Given the description of an element on the screen output the (x, y) to click on. 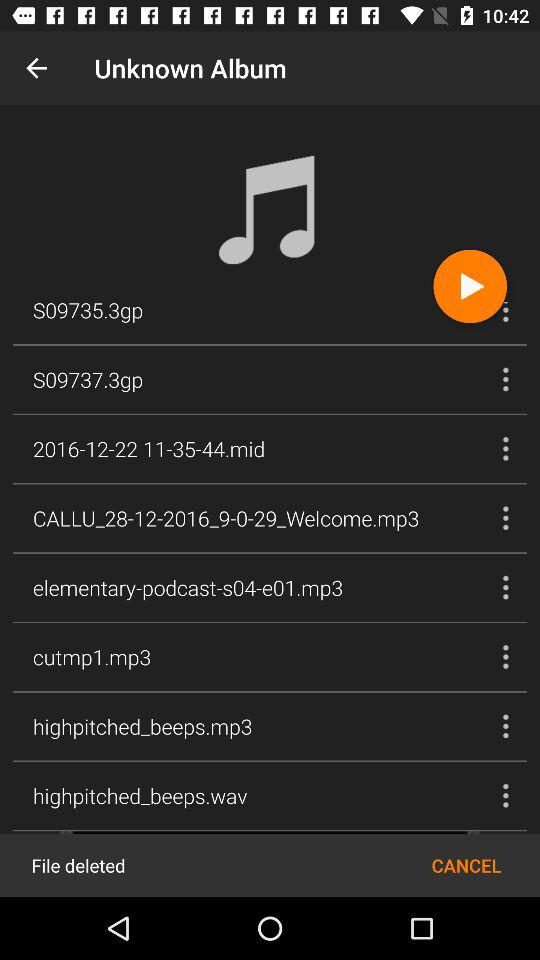
tap item to the right of the file deleted (466, 864)
